Given the description of an element on the screen output the (x, y) to click on. 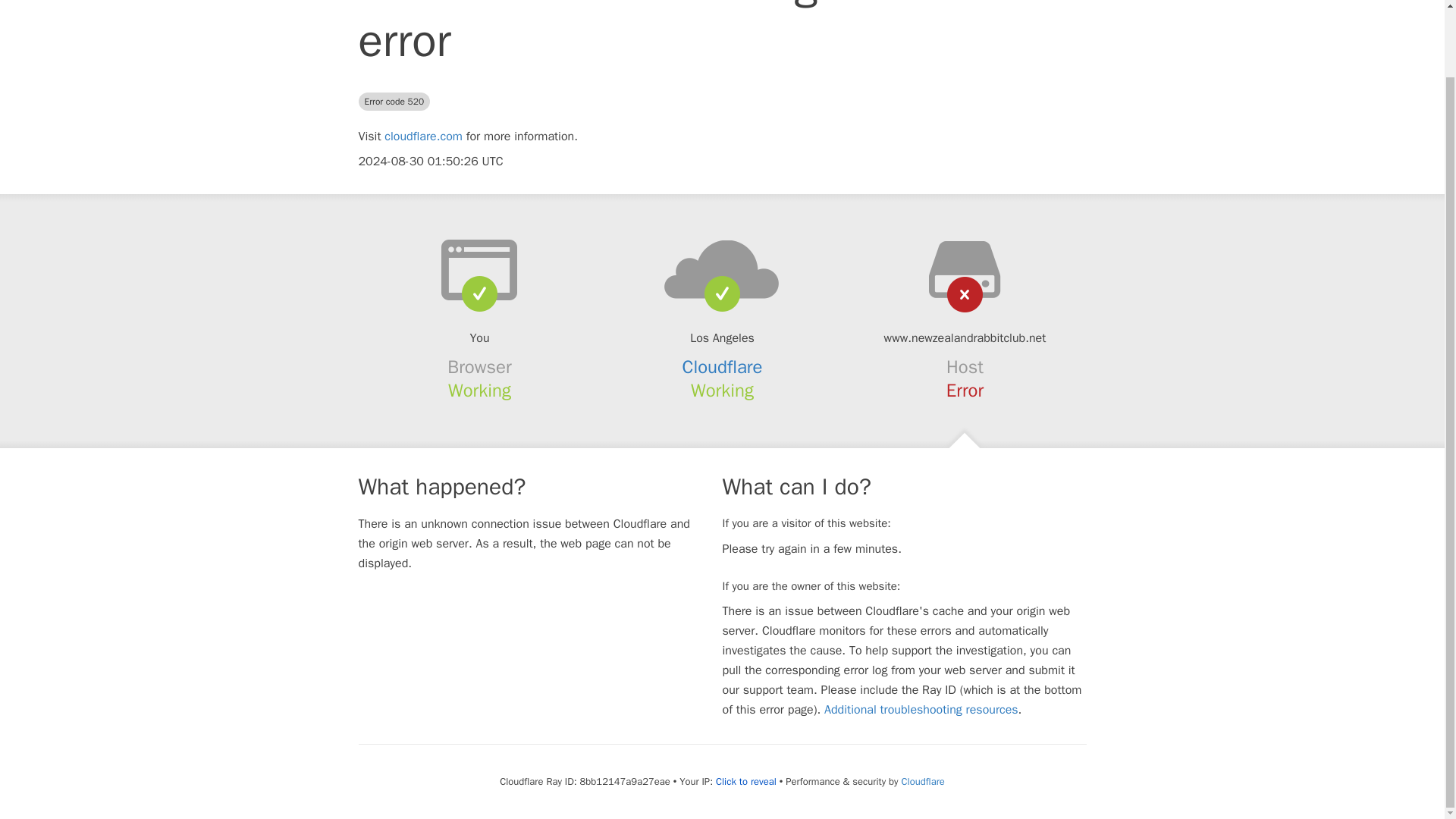
Additional troubleshooting resources (920, 709)
Cloudflare (922, 780)
Cloudflare (722, 366)
Click to reveal (746, 781)
cloudflare.com (423, 136)
